Given the description of an element on the screen output the (x, y) to click on. 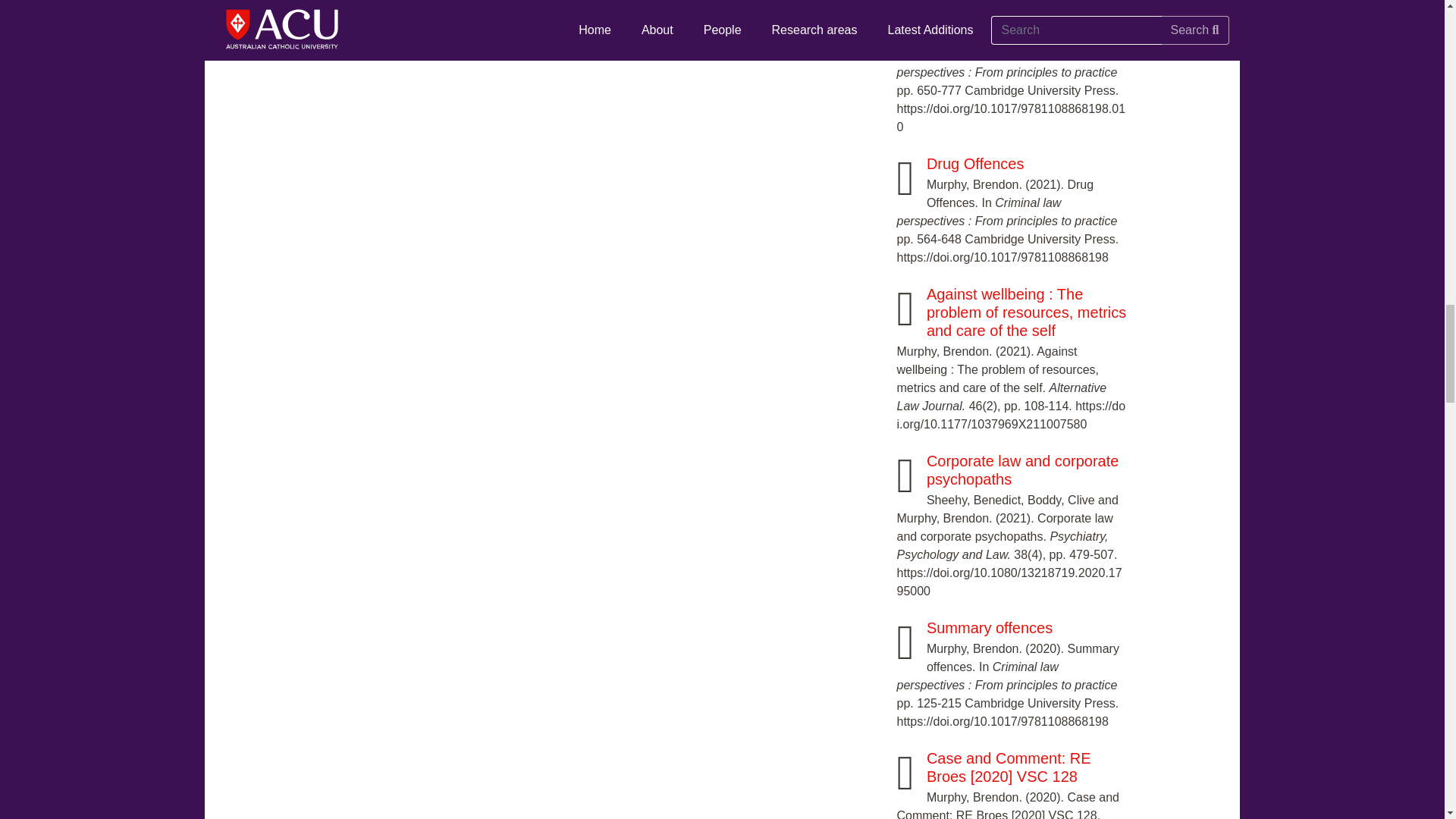
Summary offences (989, 627)
Drug Offences (975, 163)
Corporate law and corporate psychopaths (1022, 469)
